Given the description of an element on the screen output the (x, y) to click on. 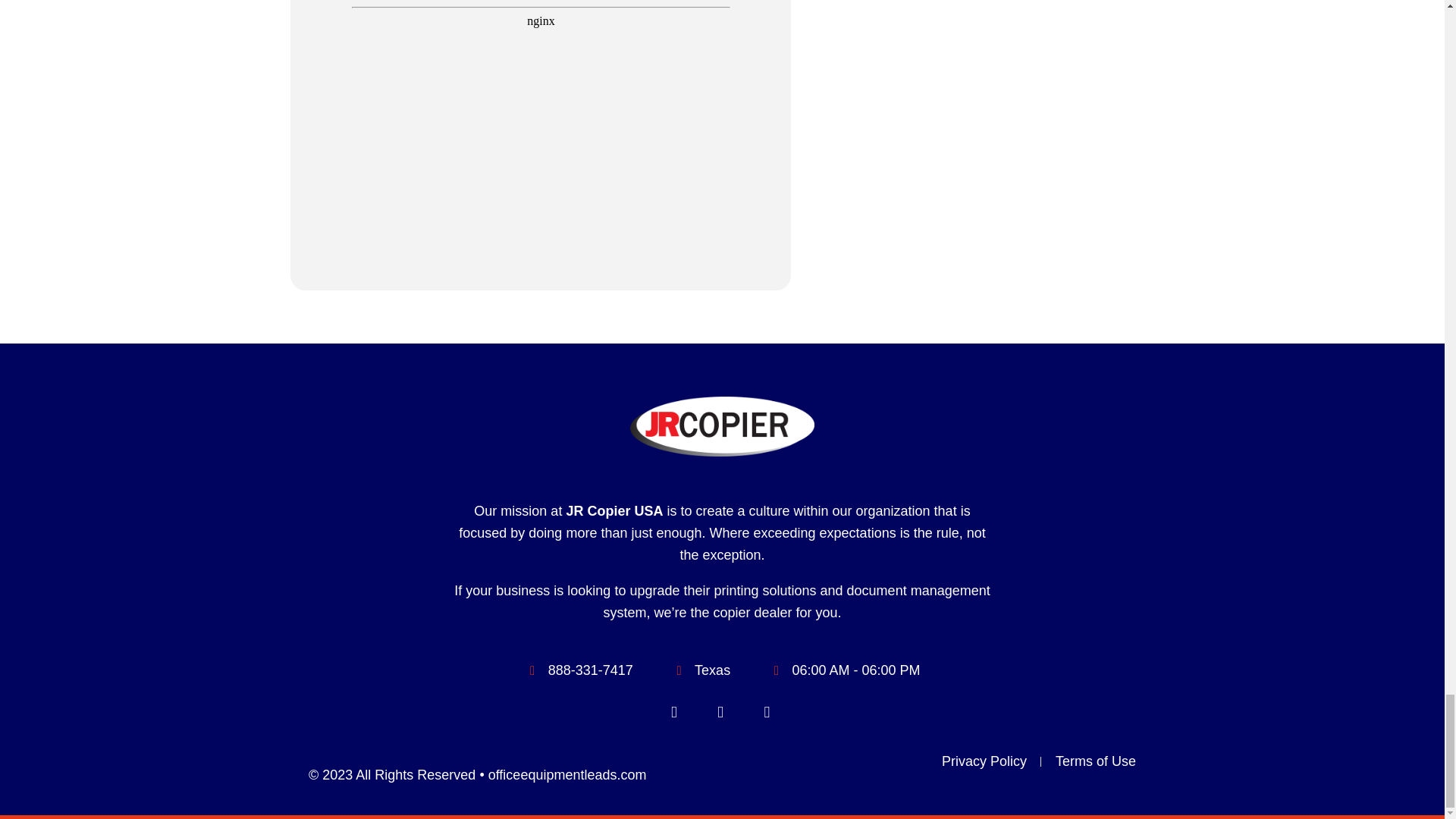
Quote Form (541, 35)
Texas (983, 145)
